Given the description of an element on the screen output the (x, y) to click on. 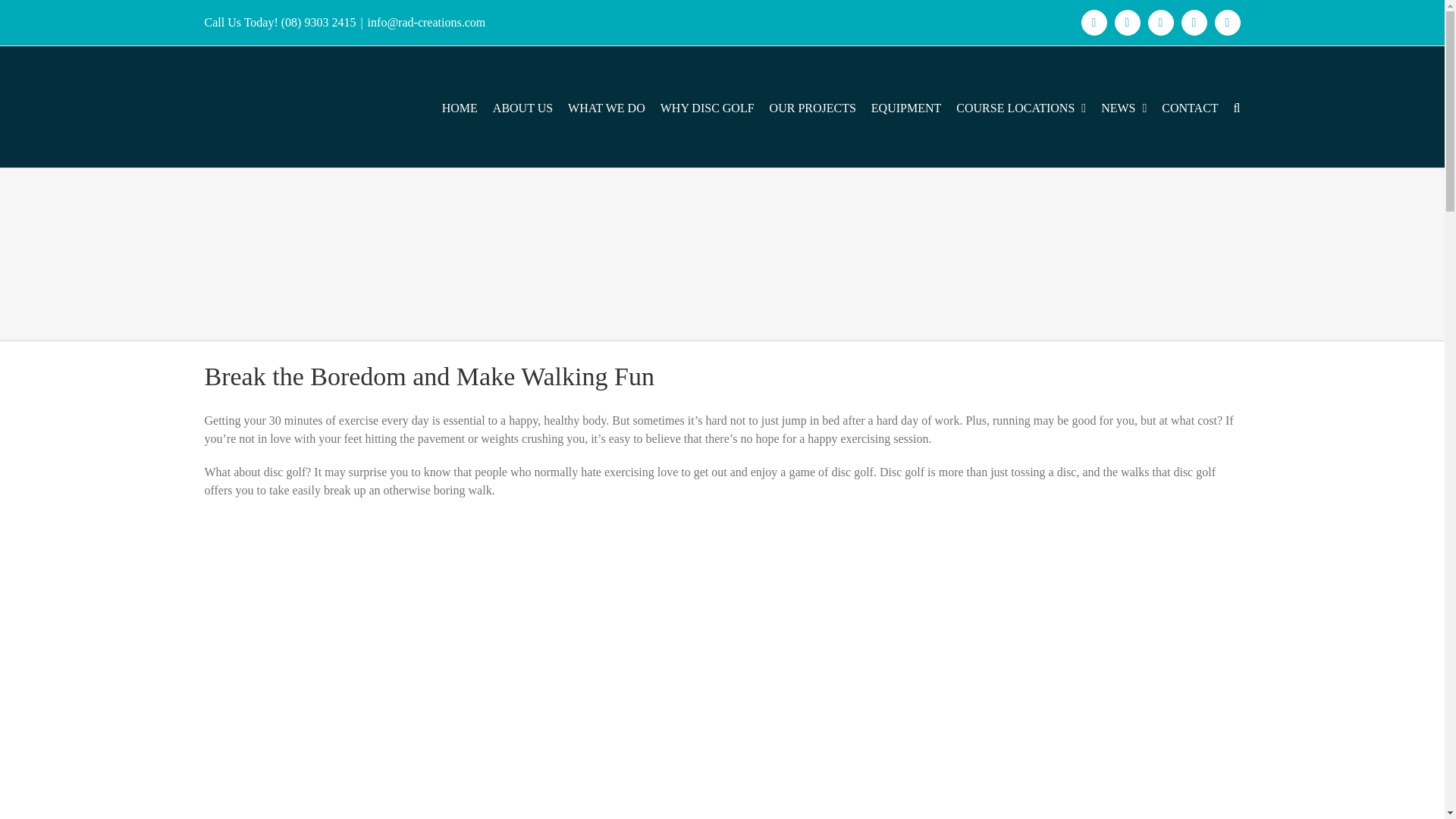
Facebook (1093, 22)
Pinterest (1193, 22)
Instagram (1160, 22)
Email (1227, 22)
Pinterest (1193, 22)
Email (1227, 22)
Facebook (1093, 22)
COURSE LOCATIONS (1021, 106)
X (1127, 22)
X (1127, 22)
